Given the description of an element on the screen output the (x, y) to click on. 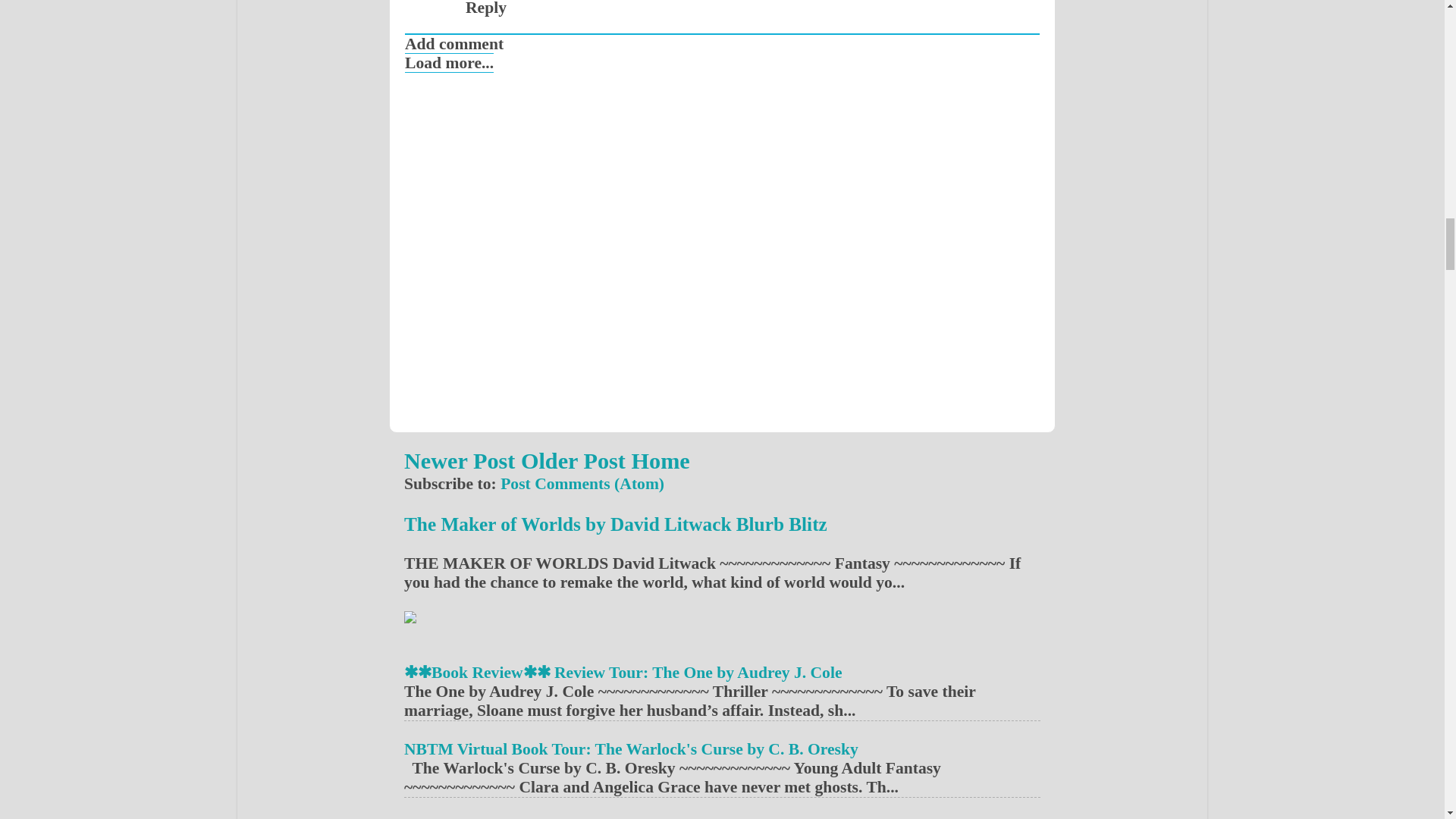
Reply (485, 8)
Newer Post (459, 460)
Home (659, 460)
Older Post (573, 460)
Load more... (448, 62)
Older Post (573, 460)
Newer Post (459, 460)
Add comment (453, 44)
